Given the description of an element on the screen output the (x, y) to click on. 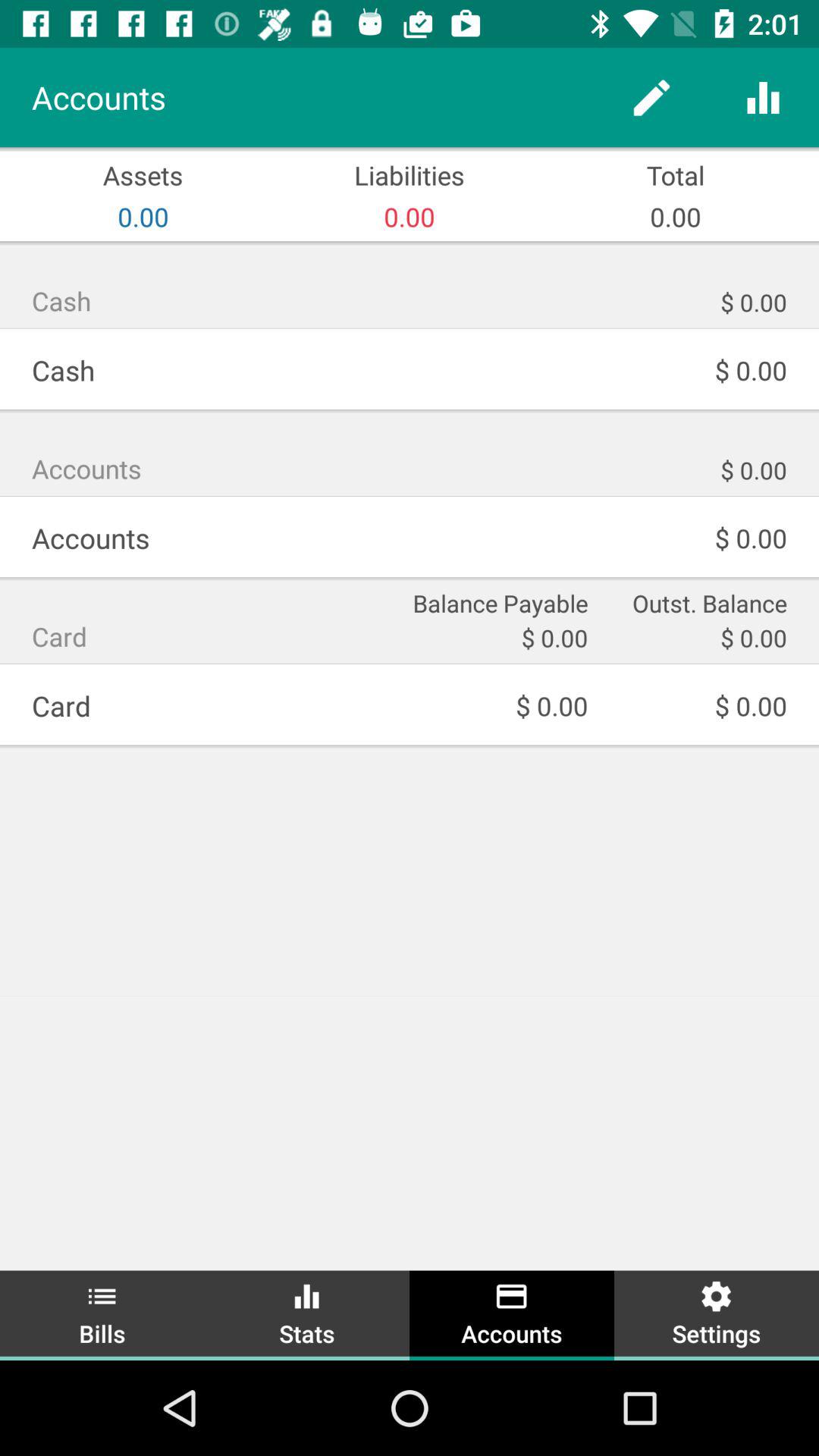
click the icon below card (102, 1313)
